Given the description of an element on the screen output the (x, y) to click on. 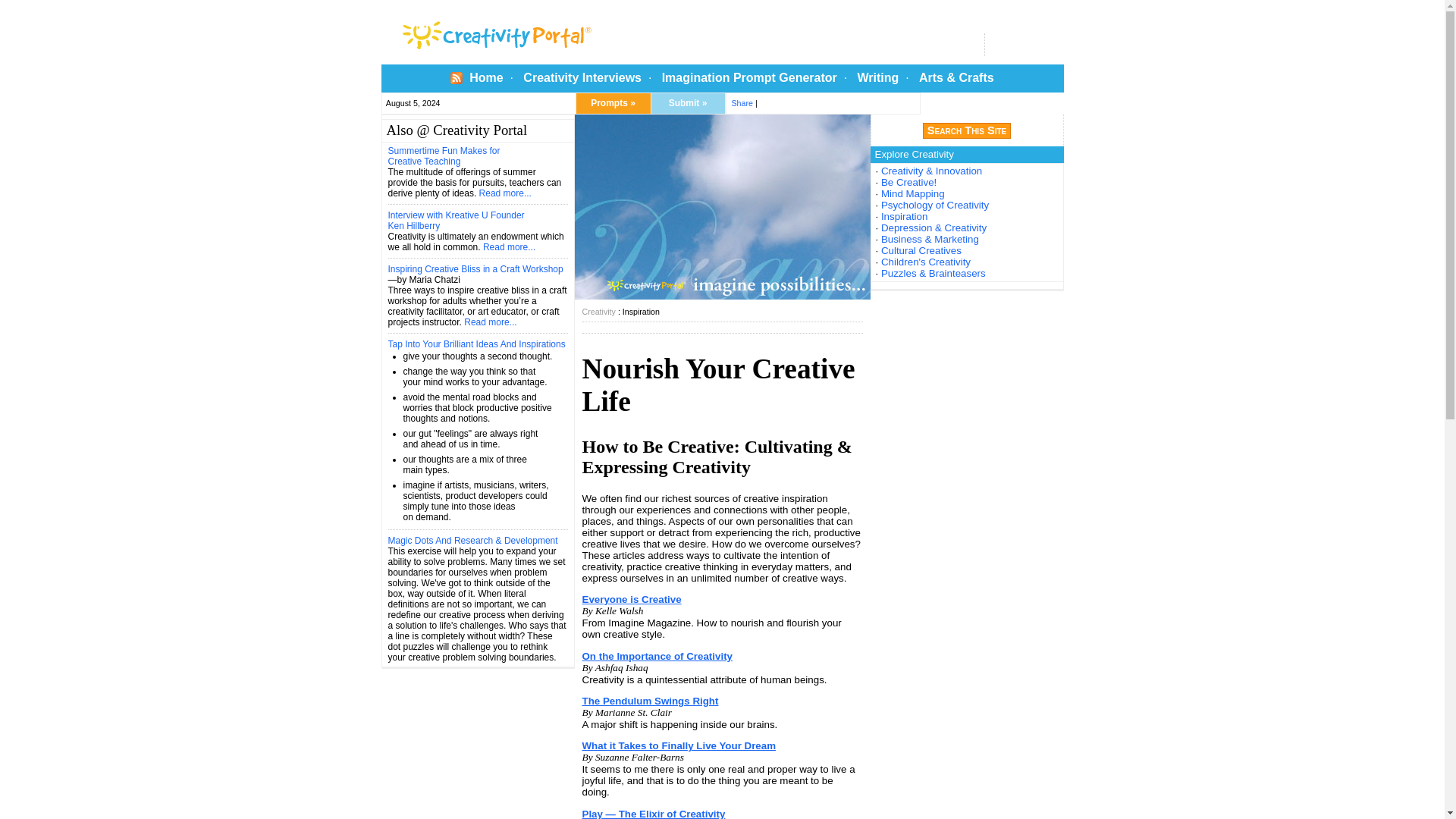
What it Takes to Finally Live Your Dream (679, 745)
Tap Into Your Brilliant Ideas And Inspirations (477, 344)
Imagination Prompt Generator (749, 77)
Read more... (505, 193)
The Pendulum Swings Right (650, 700)
Inspiring Creative Bliss in a Craft Workshop (475, 268)
Creativity Interviews (582, 77)
Creativity (598, 311)
On the Importance of Creativity (657, 655)
Summertime Fun Makes for Creative Teaching (444, 156)
Creativity Portal (551, 32)
Interview with Kreative U Founder Ken Hillberry (456, 219)
Home (485, 77)
Everyone is Creative (631, 599)
Writing (877, 77)
